Given the description of an element on the screen output the (x, y) to click on. 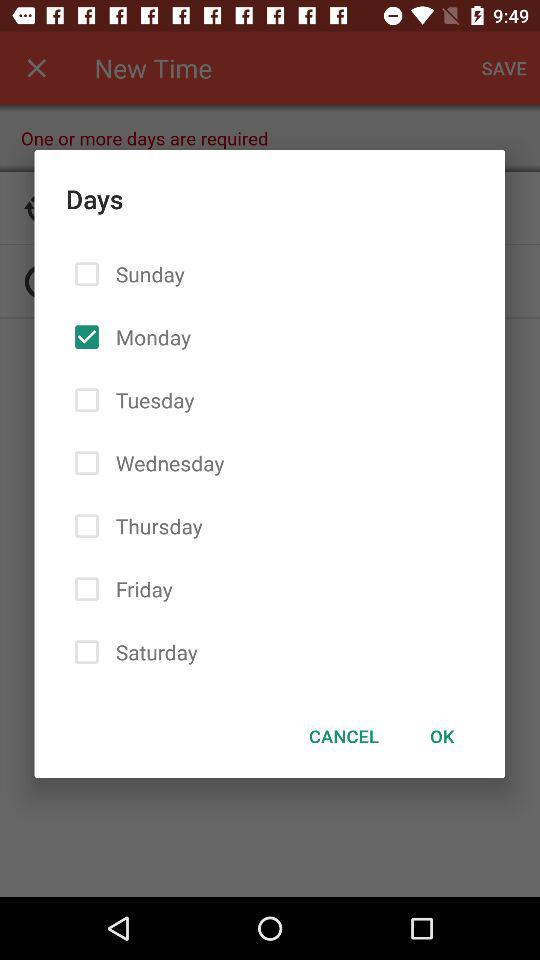
open ok (441, 735)
